Given the description of an element on the screen output the (x, y) to click on. 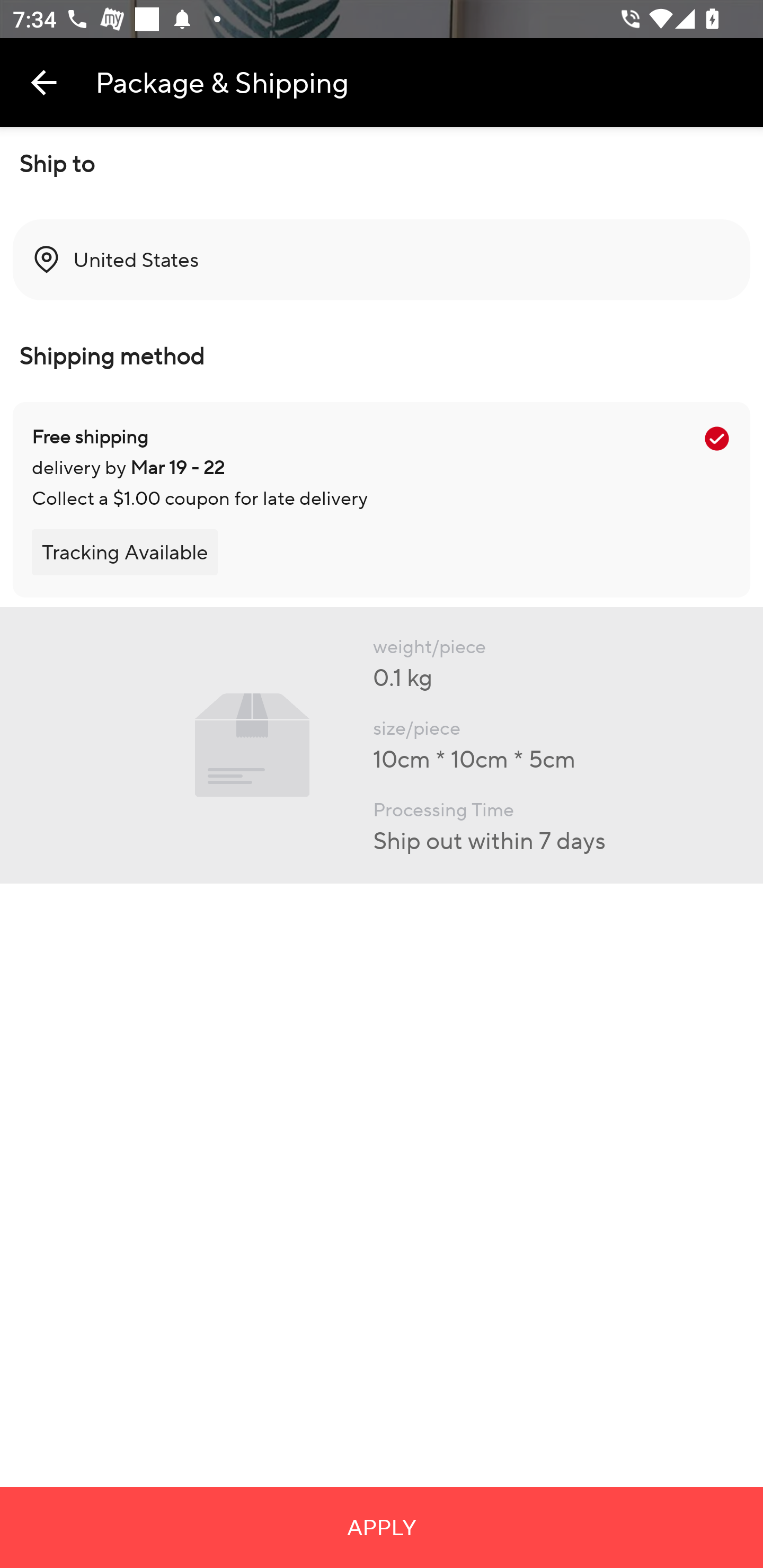
 United States (381, 260)
APPLY (381, 1527)
